Given the description of an element on the screen output the (x, y) to click on. 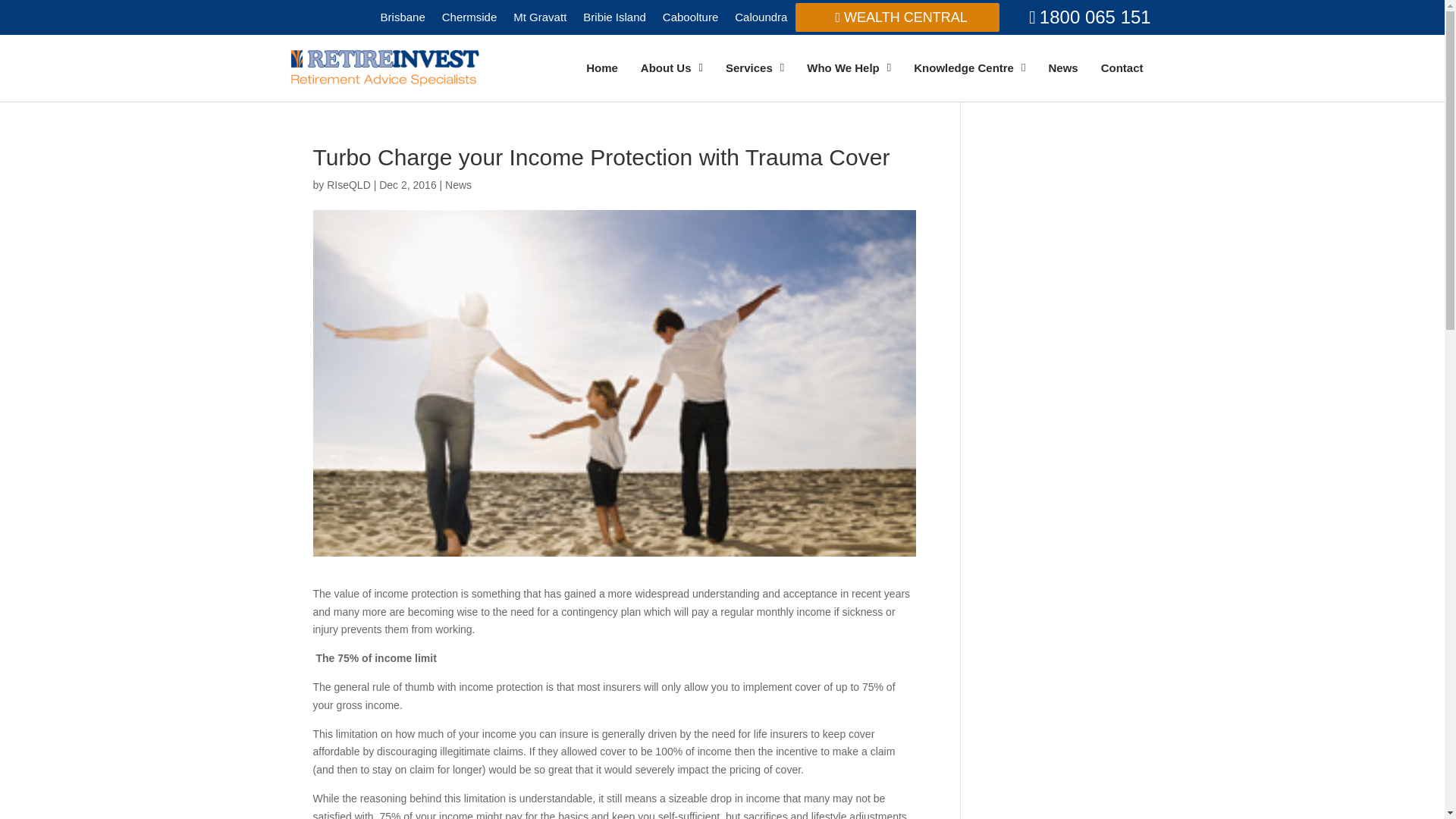
Caloundra (760, 17)
Caboolture (689, 17)
About Us (671, 67)
Mt Gravatt (540, 17)
Bribie Island (614, 17)
Services (754, 67)
Home (601, 67)
Chermside (469, 17)
Posts by RIseQLD (348, 184)
Knowledge Centre (969, 67)
Brisbane (402, 17)
Who We Help (848, 67)
WEALTH CENTRAL (896, 17)
